Given the description of an element on the screen output the (x, y) to click on. 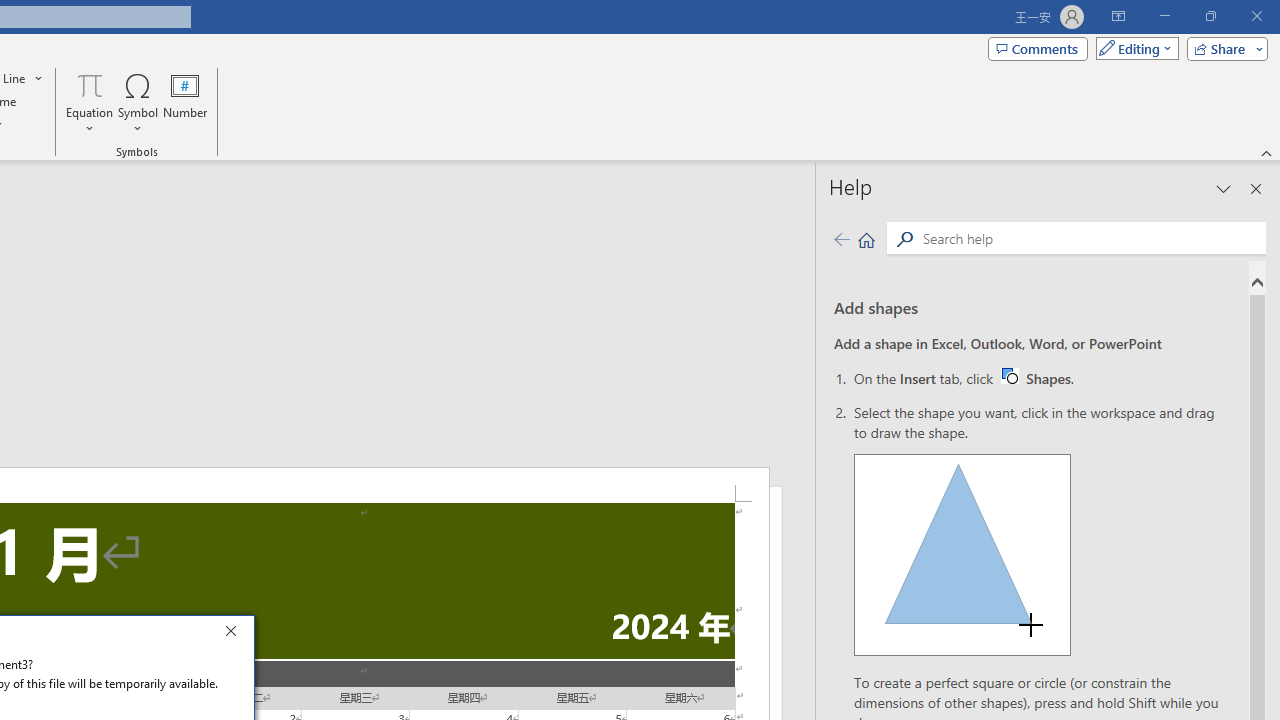
Restore Down (1210, 16)
Symbol (138, 102)
Drawing a shape (962, 554)
Word W32 Shapes button icon (1036, 377)
Close pane (1009, 375)
Task Pane Options (1256, 188)
Search (1224, 188)
Equation (1089, 237)
Number... (90, 84)
Home (185, 102)
Equation (866, 238)
Search (90, 102)
